Given the description of an element on the screen output the (x, y) to click on. 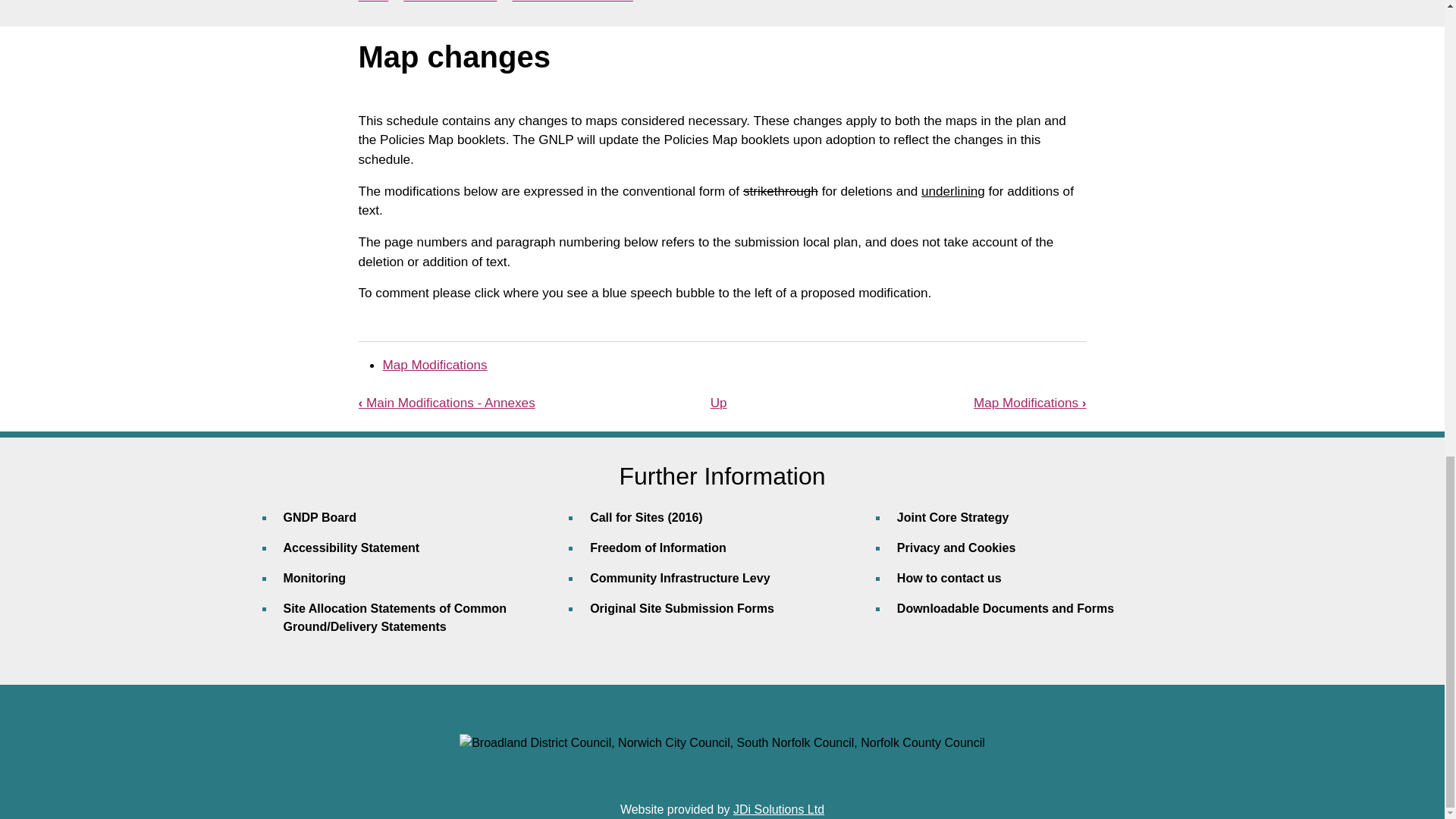
Monitoring (427, 584)
How to contact us (1041, 584)
Joint Core Strategy (1041, 523)
Go to next page (1030, 402)
Go to previous page (446, 402)
Accessibility Statement (427, 553)
Map Modifications (433, 364)
Privacy and Cookies (1041, 553)
Up (718, 402)
Freedom of Information (734, 553)
